Given the description of an element on the screen output the (x, y) to click on. 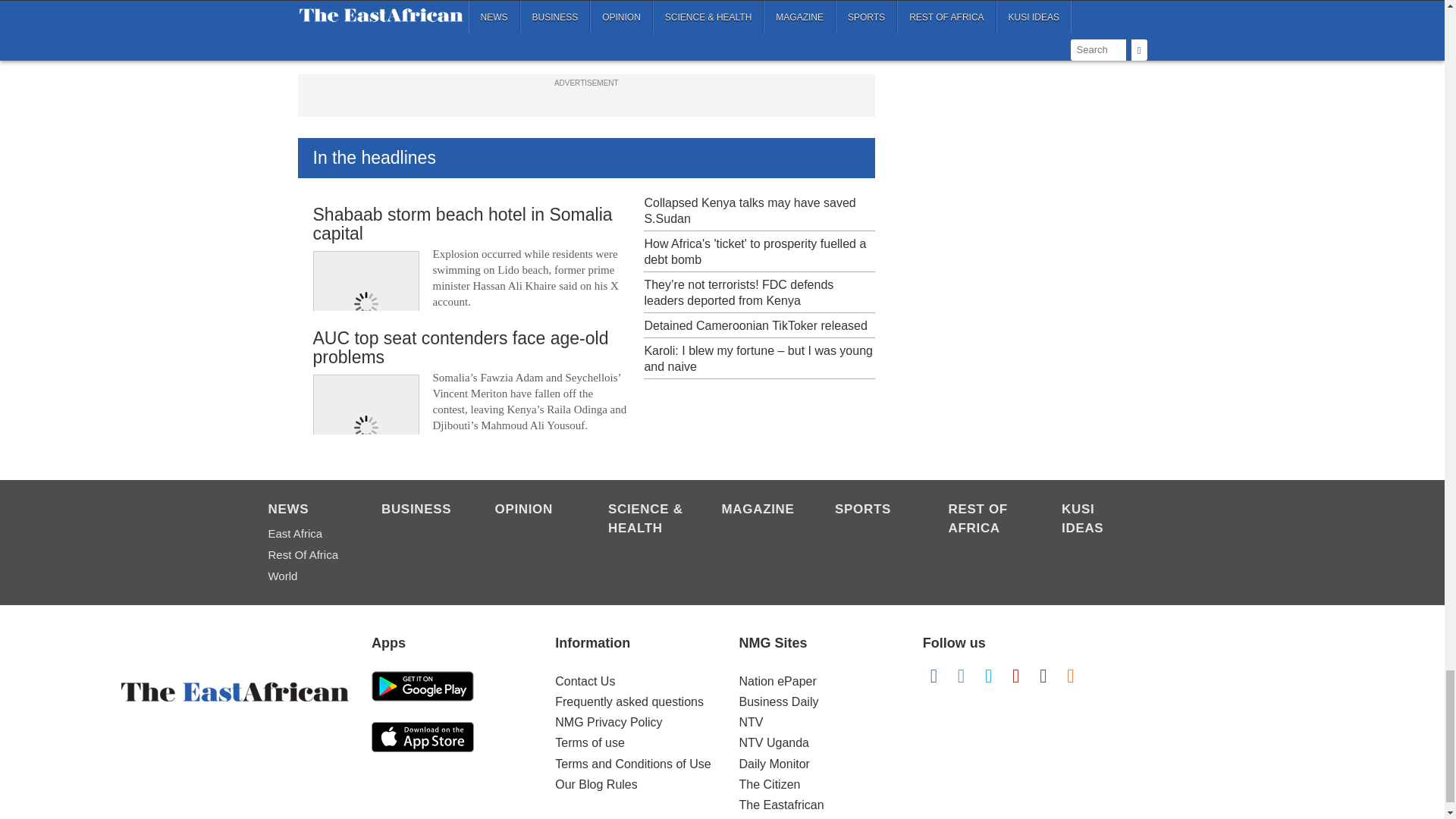
Opinion (533, 510)
Rest of Africa (987, 519)
News (306, 510)
Business (419, 510)
Frequently asked questions (628, 701)
NMG Privacy Policy (608, 721)
Contact Us (584, 680)
Sports (873, 510)
Terms and Conditions of Use (632, 763)
Terms of use (589, 742)
World (306, 576)
KUSI IDEAS (1099, 519)
Rest of Africa (306, 554)
East Africa (306, 533)
Magazine (760, 510)
